Given the description of an element on the screen output the (x, y) to click on. 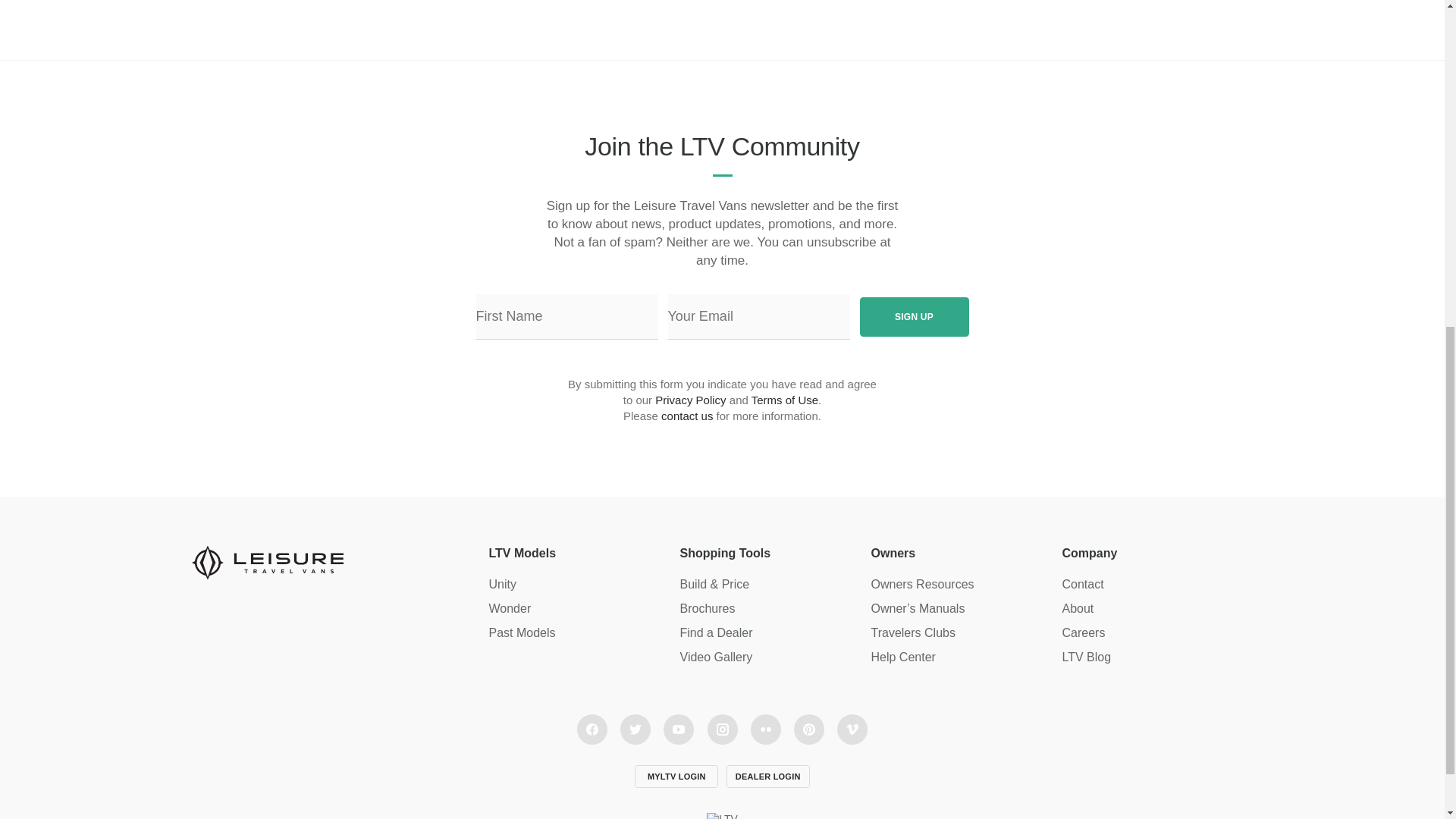
Sign Up (914, 316)
